Given the description of an element on the screen output the (x, y) to click on. 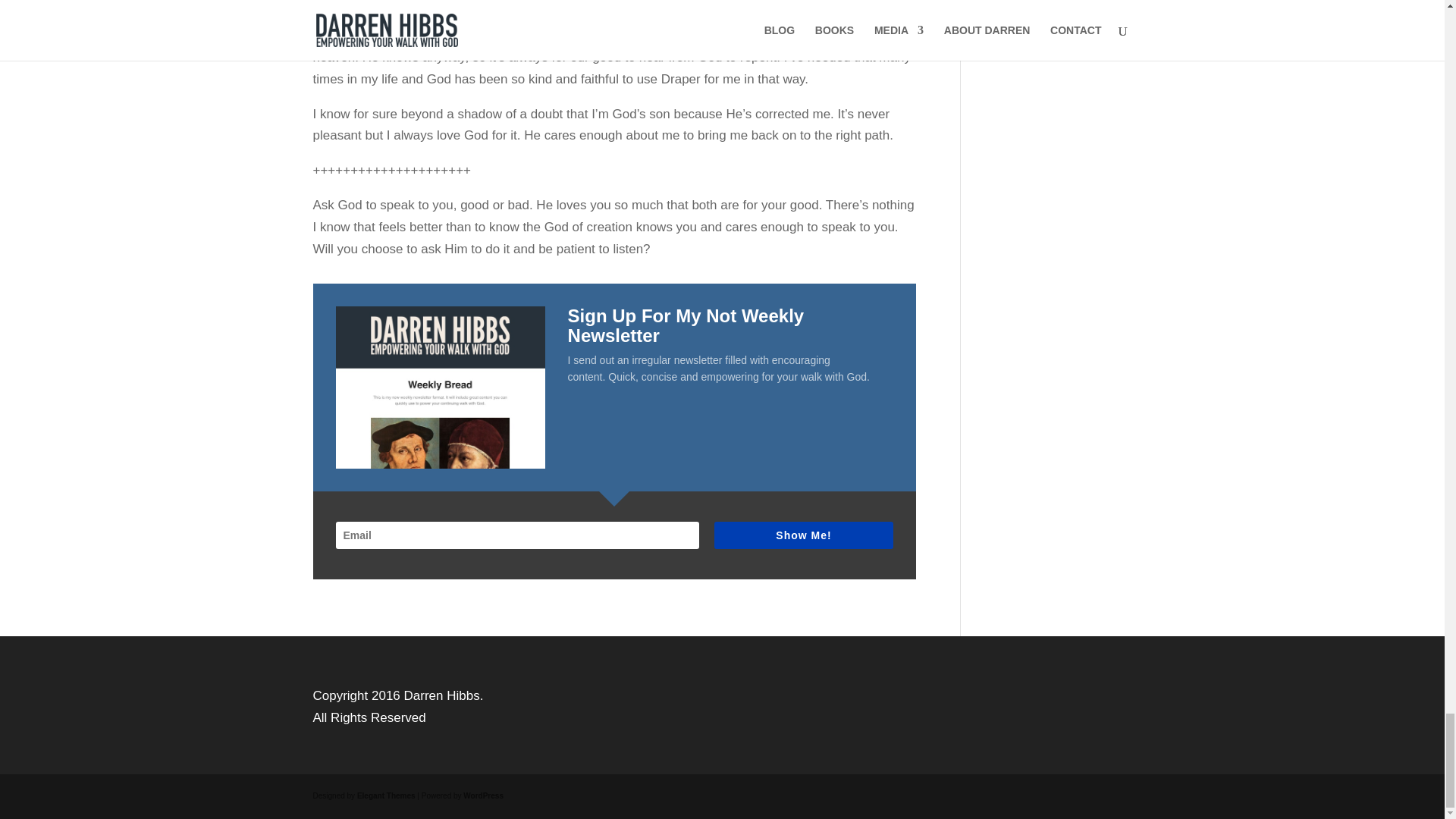
WordPress (483, 795)
Premium WordPress Themes (385, 795)
Elegant Themes (385, 795)
Show Me! (803, 534)
